Given the description of an element on the screen output the (x, y) to click on. 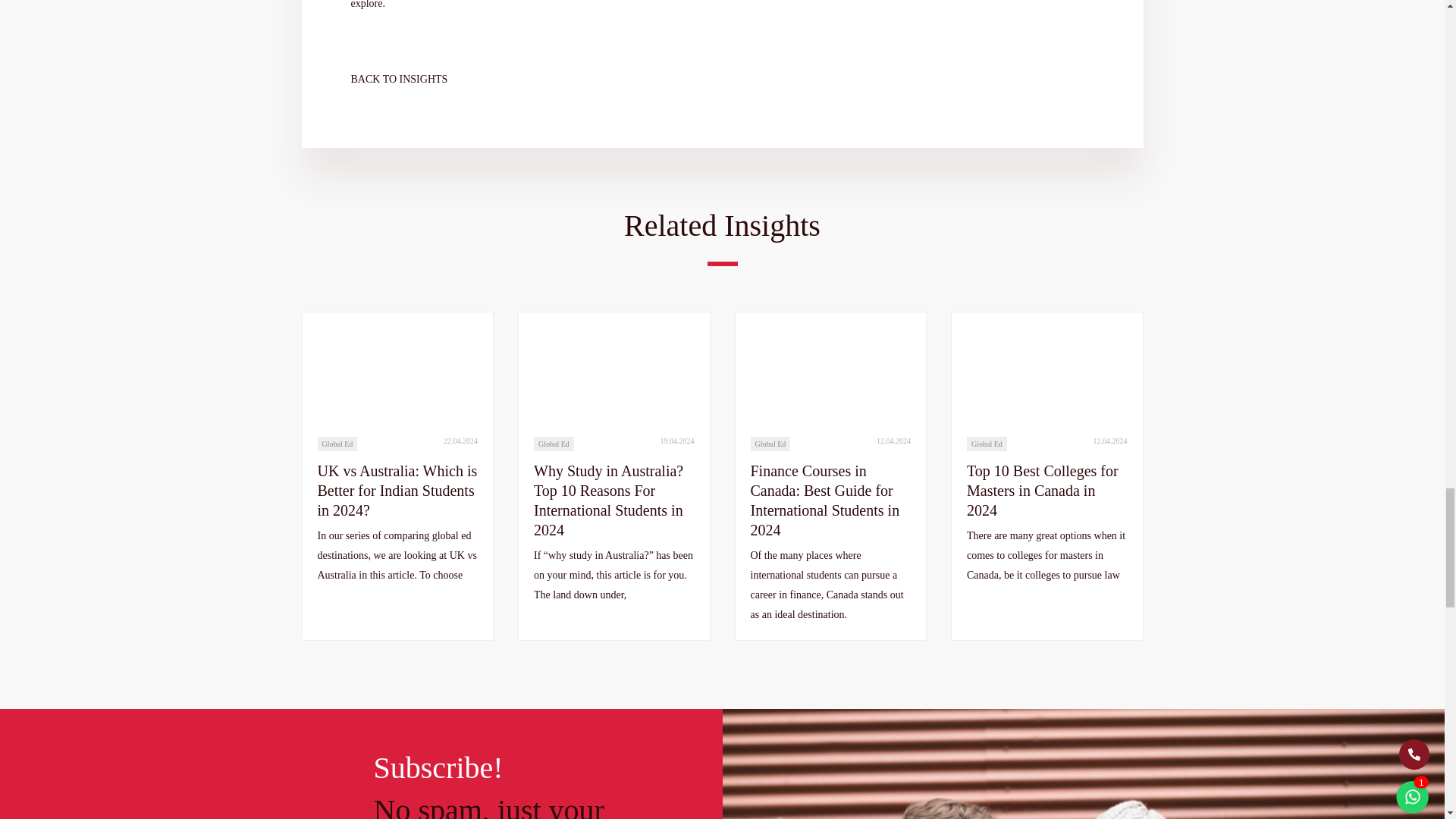
BACK TO INSIGHTS (409, 79)
